Given the description of an element on the screen output the (x, y) to click on. 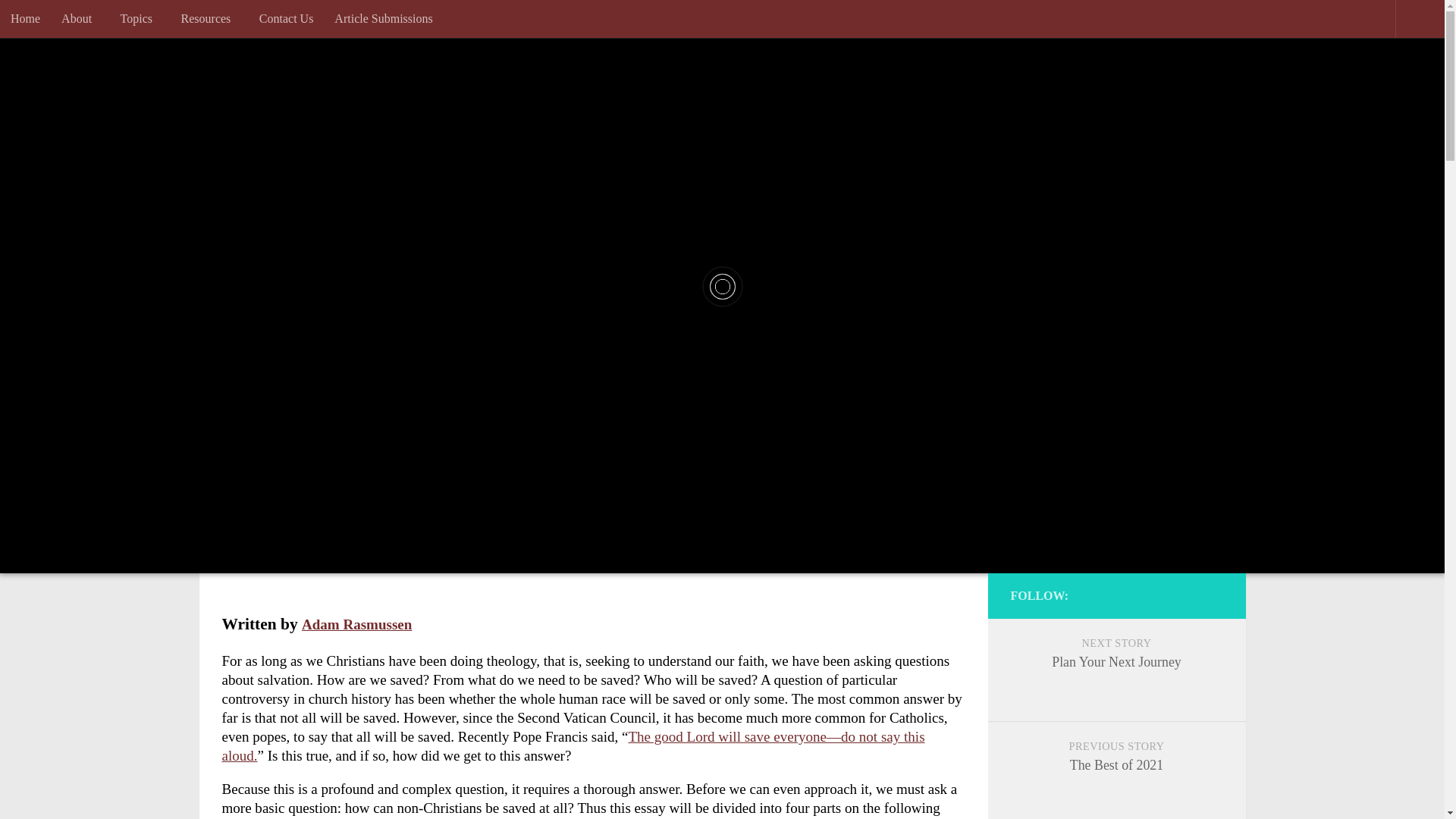
About (80, 18)
Adam Rasmussen (356, 624)
Contact Us (286, 18)
Home (25, 18)
Skip to content (66, 22)
Resources (209, 18)
Topics (140, 18)
Article Submissions (382, 18)
